Given the description of an element on the screen output the (x, y) to click on. 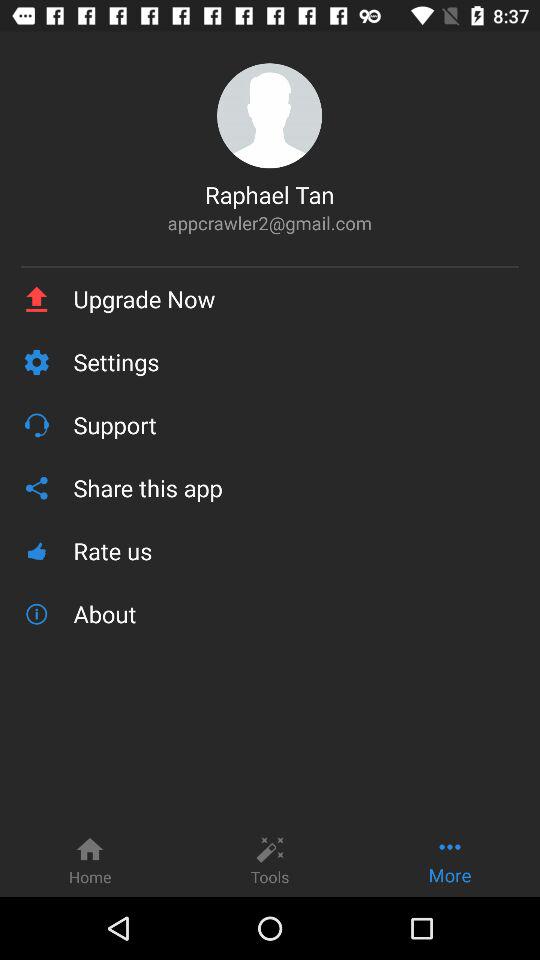
jump until about (296, 614)
